Given the description of an element on the screen output the (x, y) to click on. 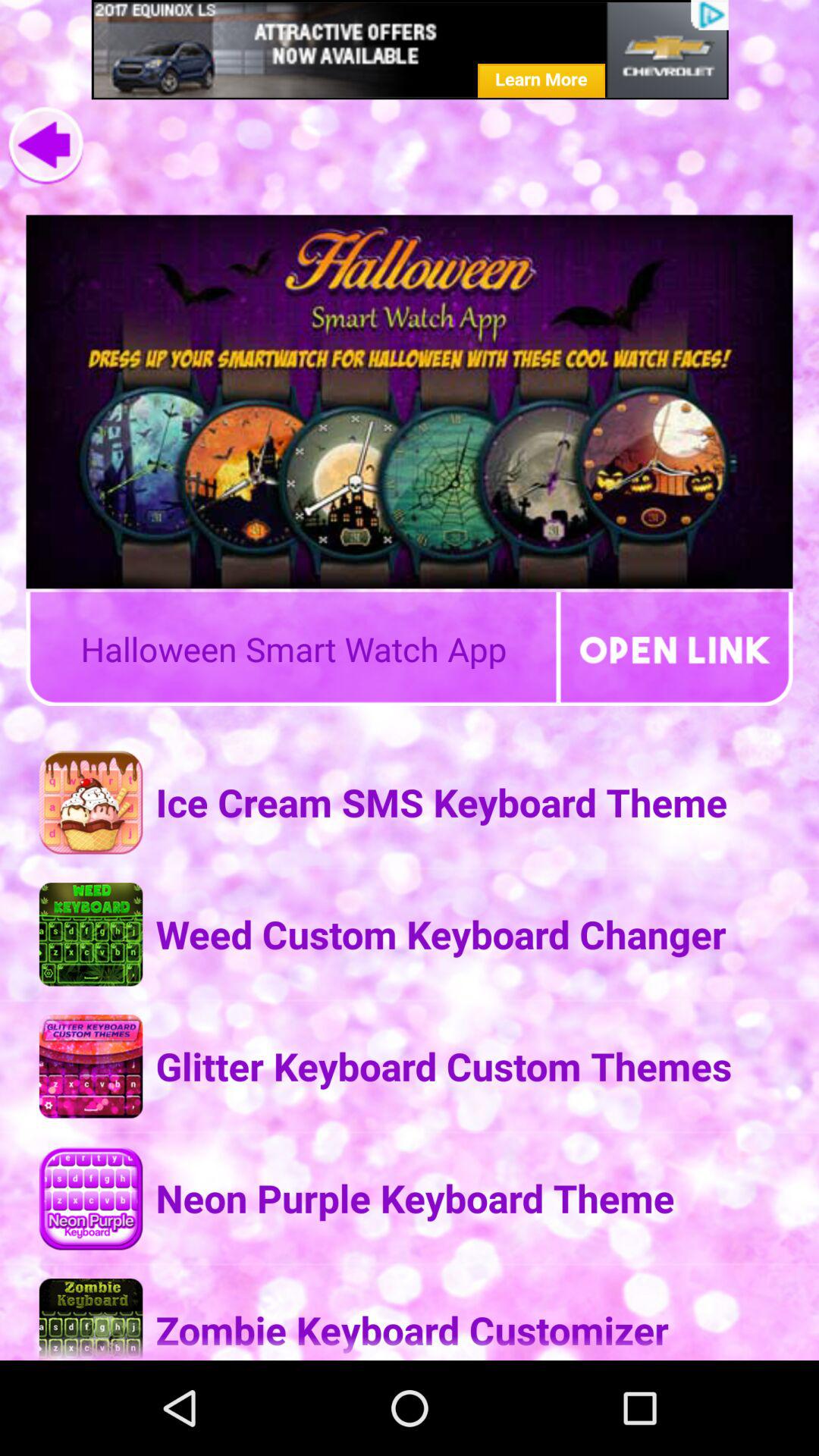
give advertisement information (409, 49)
